Given the description of an element on the screen output the (x, y) to click on. 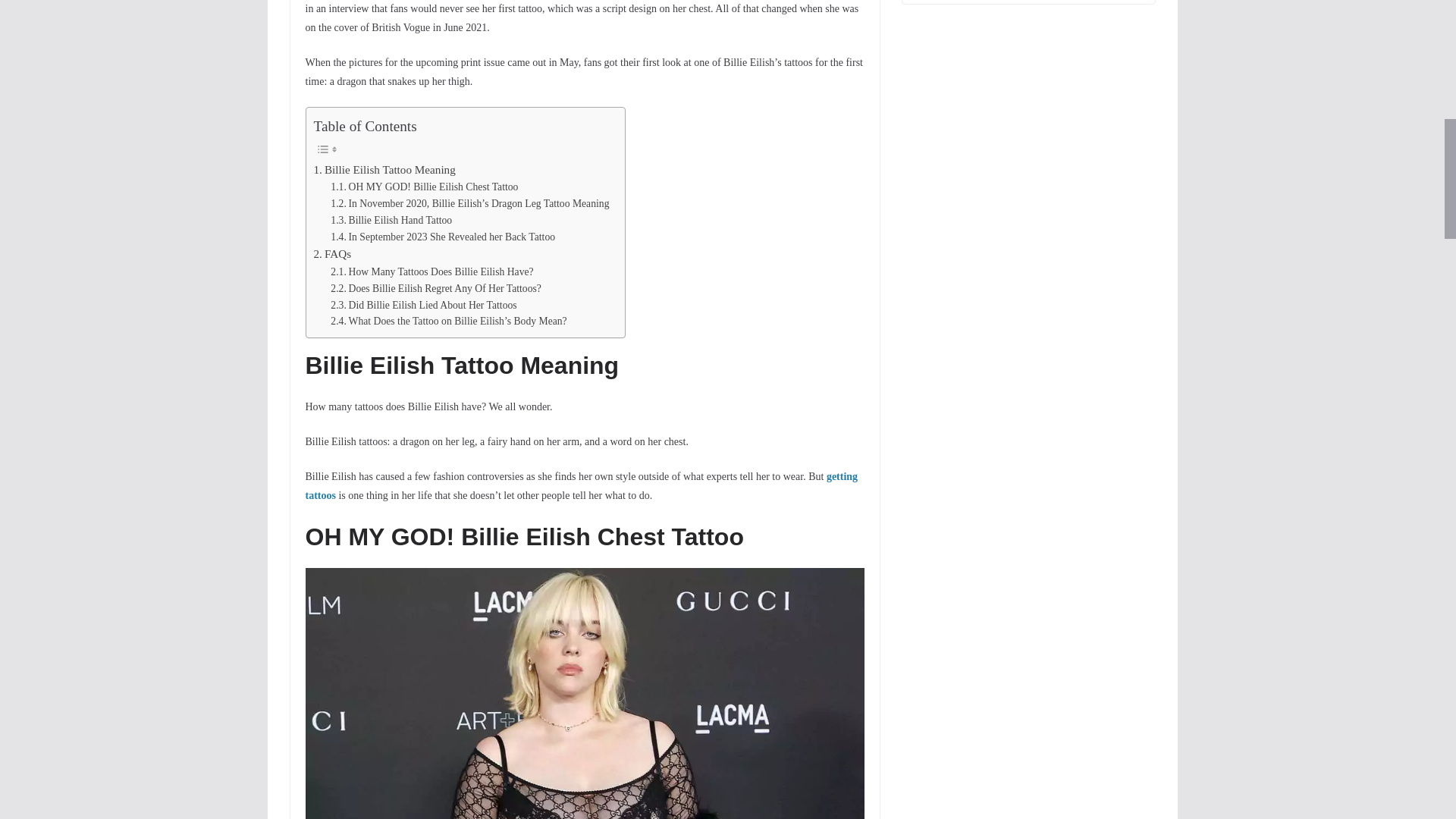
Billie Eilish Hand Tattoo (390, 220)
OH MY GOD! Billie Eilish Chest Tattoo (424, 187)
Does Billie Eilish Regret Any Of Her Tattoos? (435, 288)
Billie Eilish Hand Tattoo (390, 220)
In September 2023 She Revealed her Back Tattoo (442, 237)
OH MY GOD! Billie Eilish Chest Tattoo (424, 187)
Billie Eilish Tattoo Meaning (384, 169)
How Many Tattoos Does Billie Eilish Have? (431, 271)
FAQs (333, 253)
Billie Eilish Tattoo Meaning (384, 169)
